Given the description of an element on the screen output the (x, y) to click on. 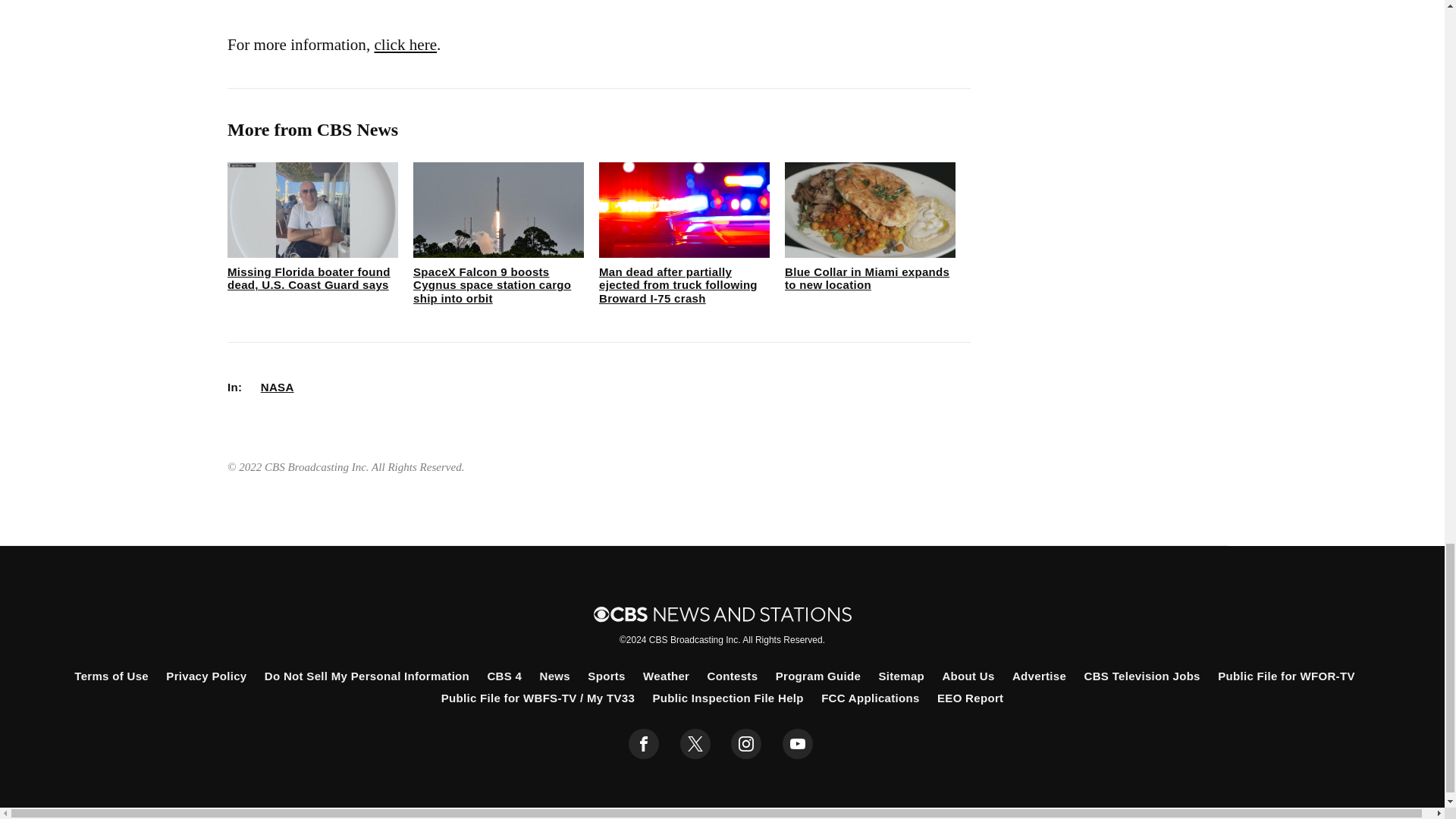
instagram (745, 743)
youtube (797, 743)
twitter (694, 743)
facebook (643, 743)
